Given the description of an element on the screen output the (x, y) to click on. 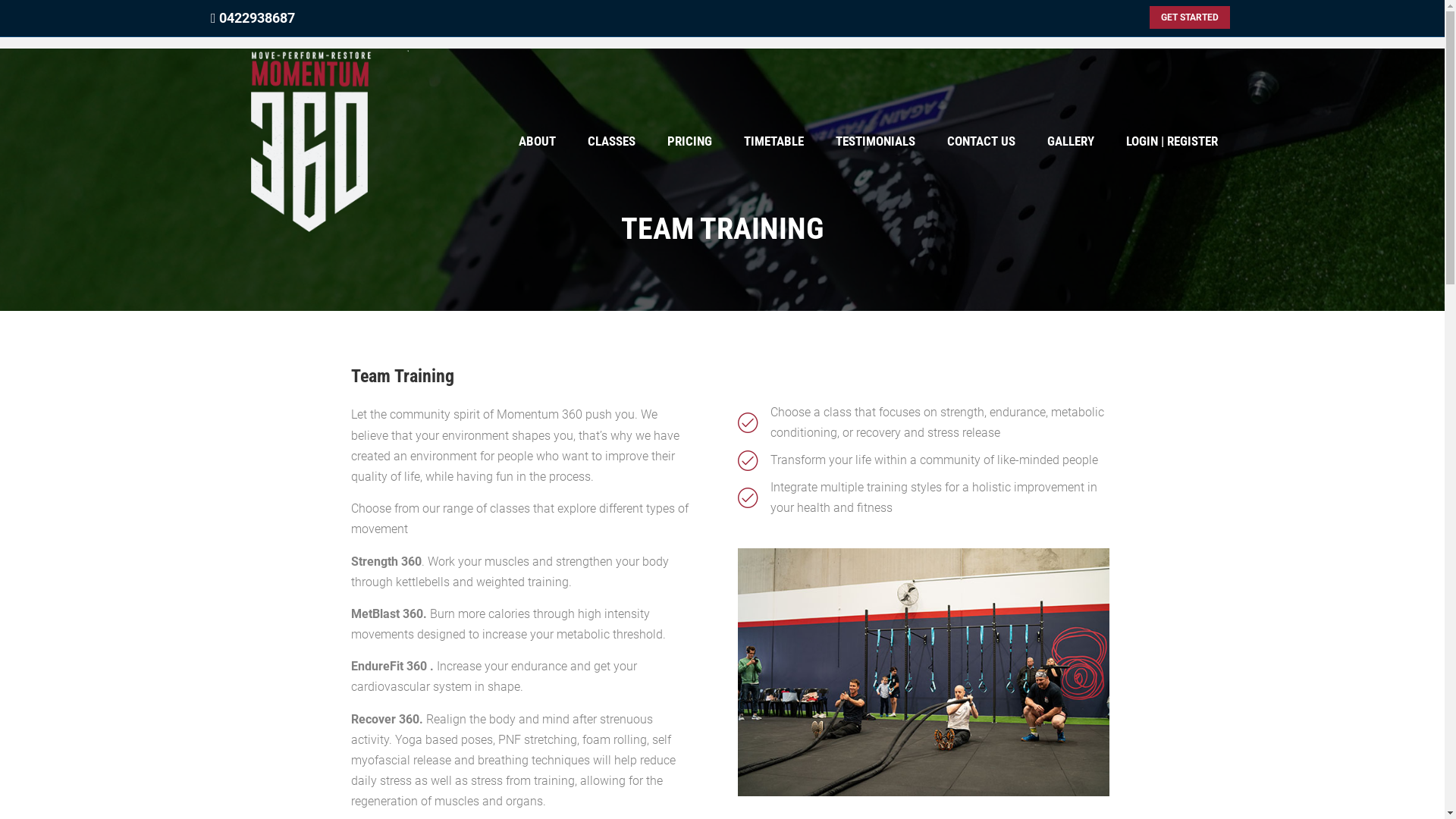
PRICING Element type: text (689, 141)
GALLERY Element type: text (1070, 141)
ABOUT Element type: text (536, 141)
TESTIMONIALS Element type: text (875, 141)
CONTACT US Element type: text (981, 141)
LOGIN | REGISTER Element type: text (1171, 141)
Enquire Now Element type: text (734, 491)
TIMETABLE Element type: text (773, 141)
GET STARTED Element type: text (1189, 17)
CLASSES Element type: text (611, 141)
